Given the description of an element on the screen output the (x, y) to click on. 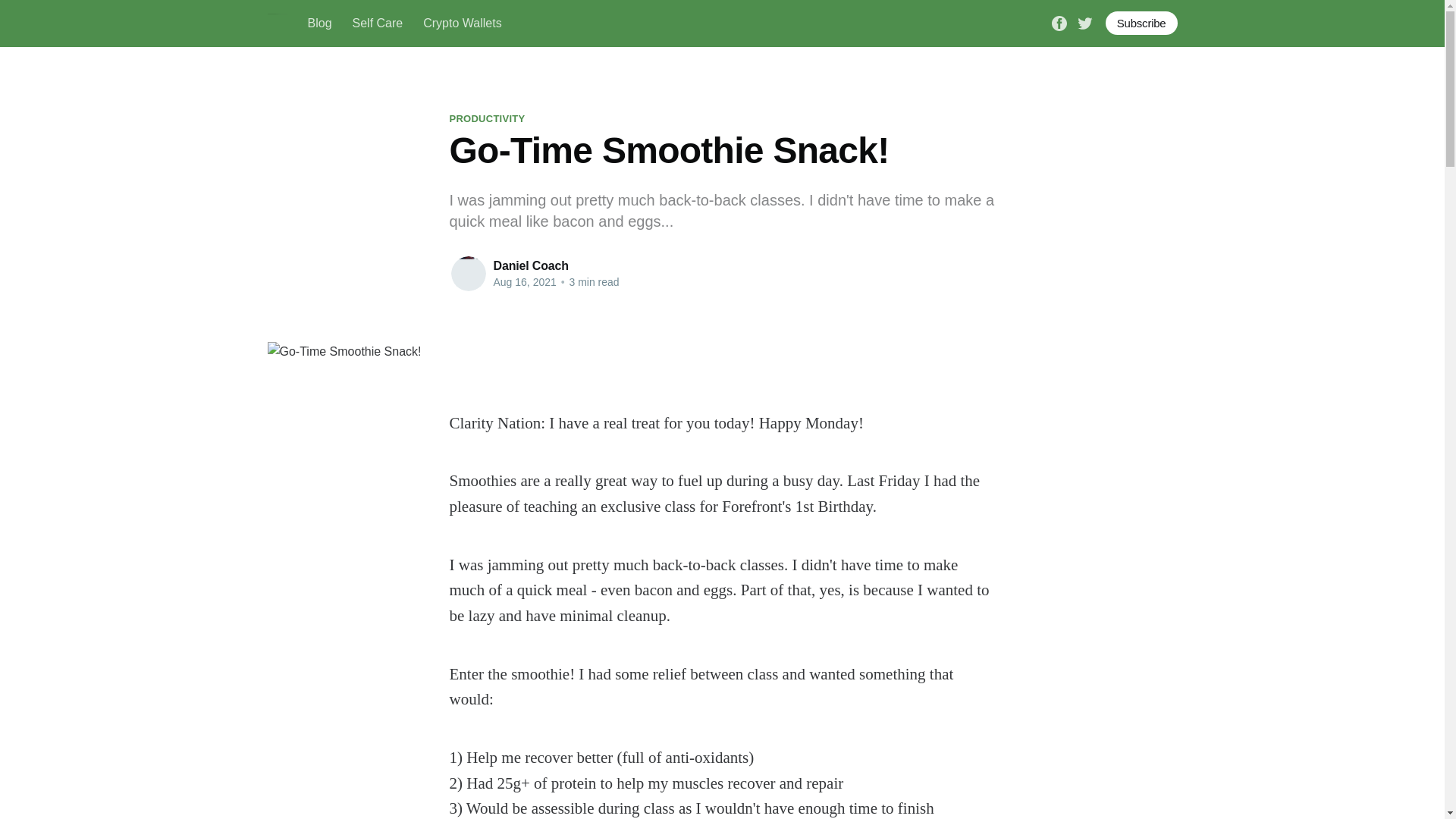
Daniel Coach (530, 265)
Crypto Wallets (461, 22)
Subscribe (1141, 23)
Self Care (377, 22)
PRODUCTIVITY (486, 119)
Facebook (1059, 21)
Twitter (1085, 21)
